Given the description of an element on the screen output the (x, y) to click on. 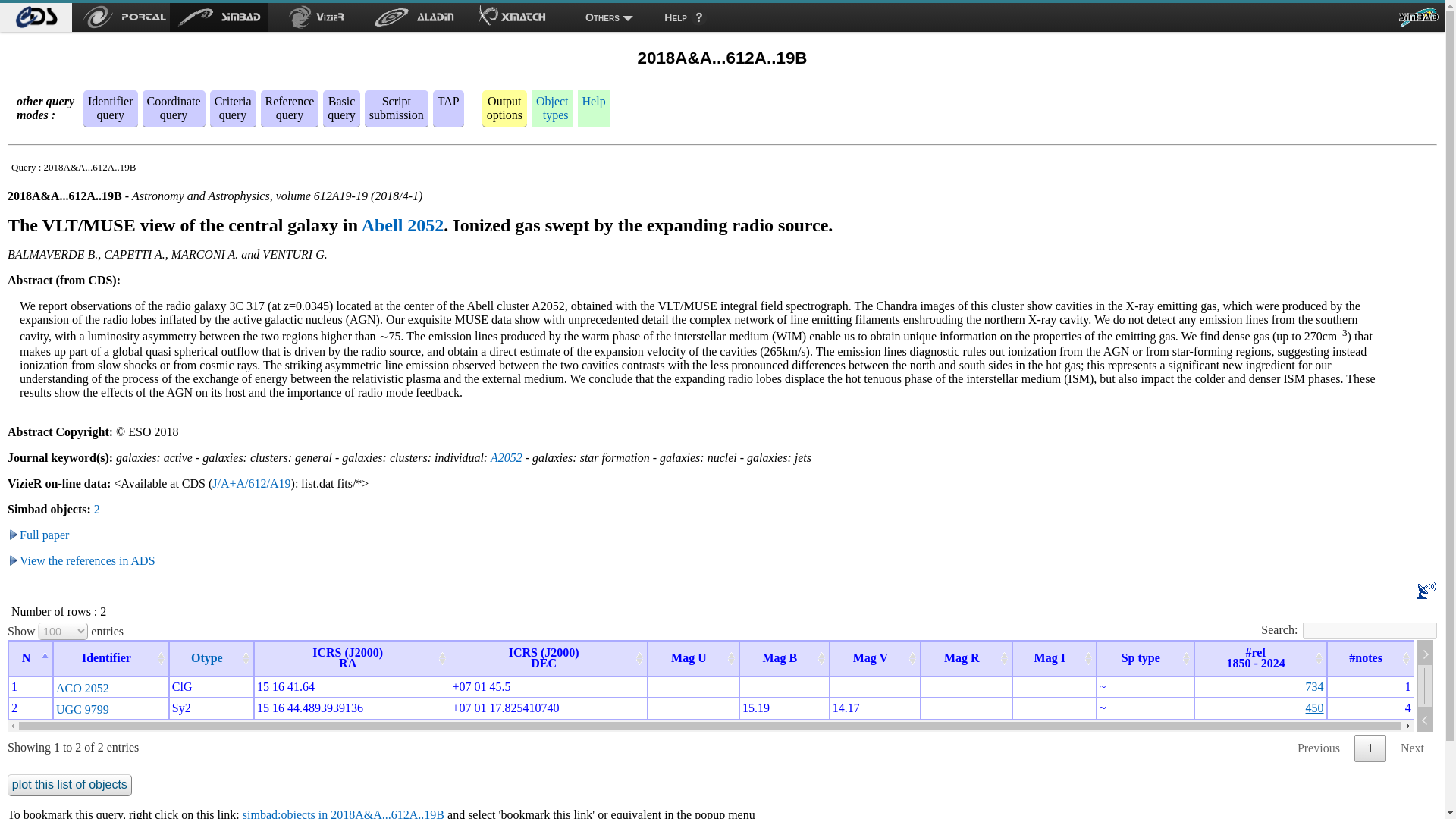
Others (609, 17)
ACO 2052 (82, 687)
plot this list of objects (69, 784)
TAP (449, 101)
View the references in ADS (232, 108)
734 (87, 560)
sendBySAMP (1314, 686)
450 (1426, 590)
